Given the description of an element on the screen output the (x, y) to click on. 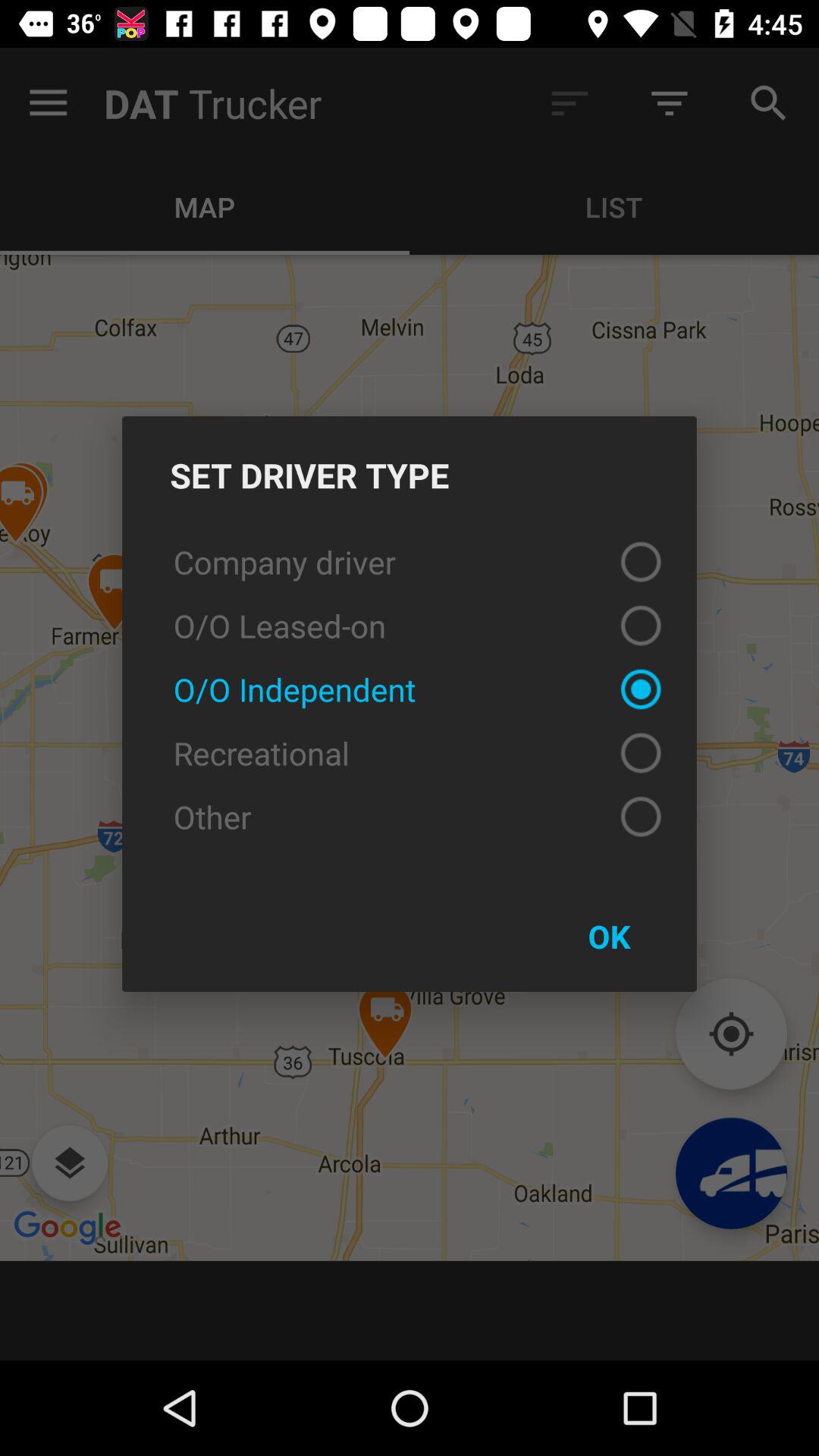
choose icon below other item (608, 935)
